Given the description of an element on the screen output the (x, y) to click on. 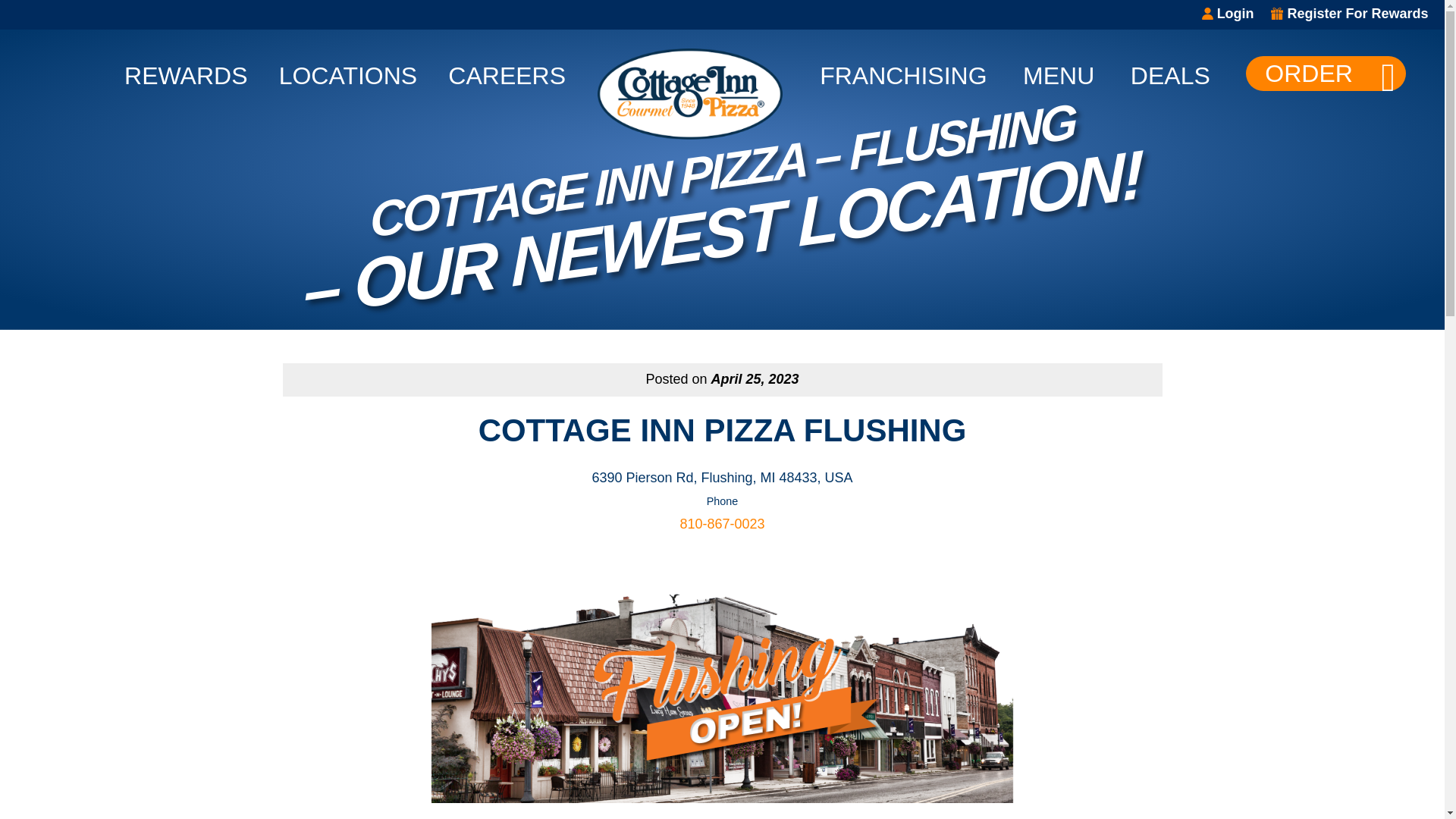
MENU (1058, 71)
Cottage Inn Logo Oval Small (689, 93)
CAREERS (507, 71)
FRANCHISING (903, 71)
REWARDS (185, 71)
810-867-0023 (721, 523)
LOCATIONS (348, 71)
ORDER (1326, 73)
Login (1227, 13)
DEALS (1170, 71)
Register For Rewards (1349, 13)
